Given the description of an element on the screen output the (x, y) to click on. 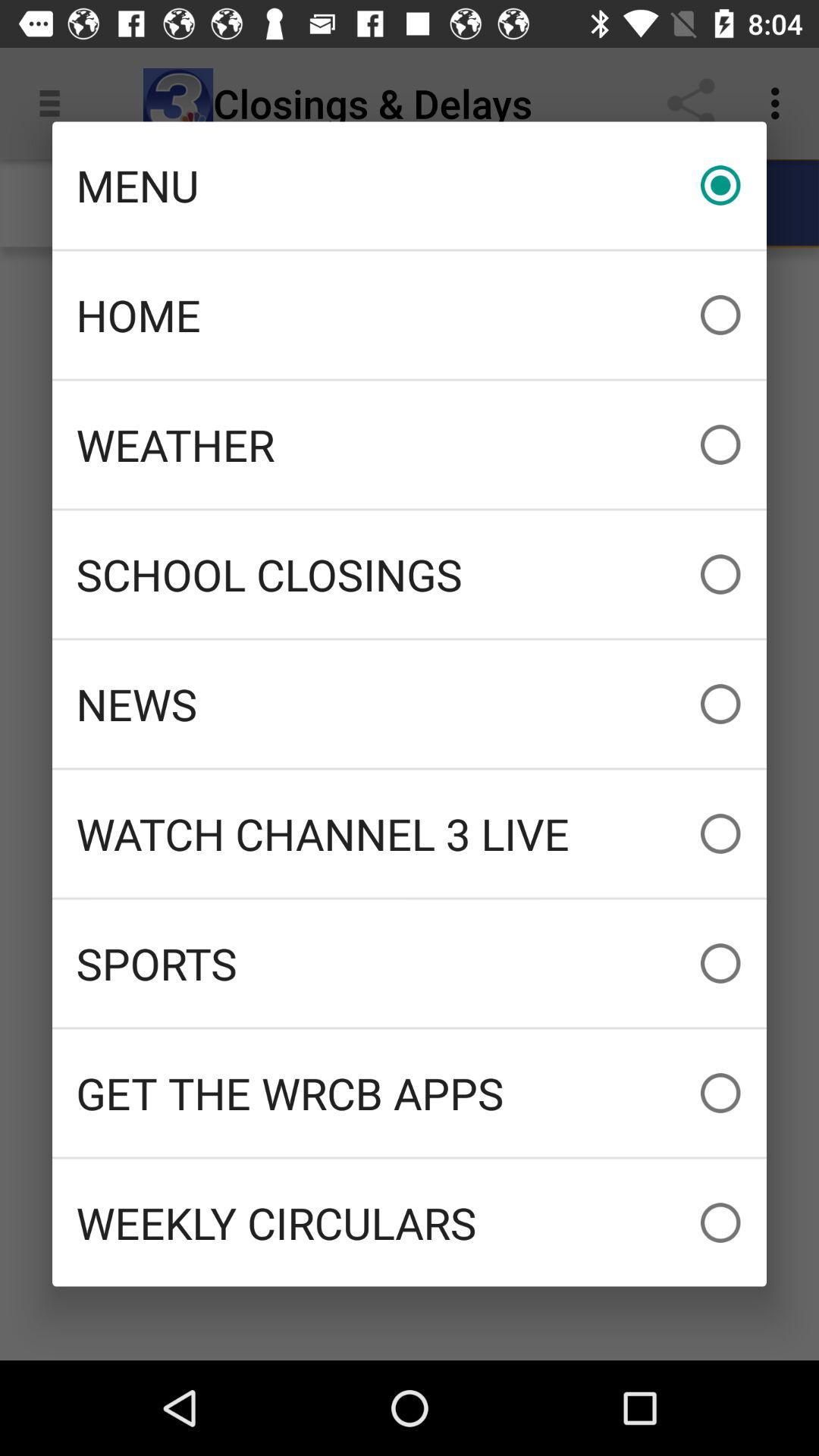
turn on weather (409, 444)
